Given the description of an element on the screen output the (x, y) to click on. 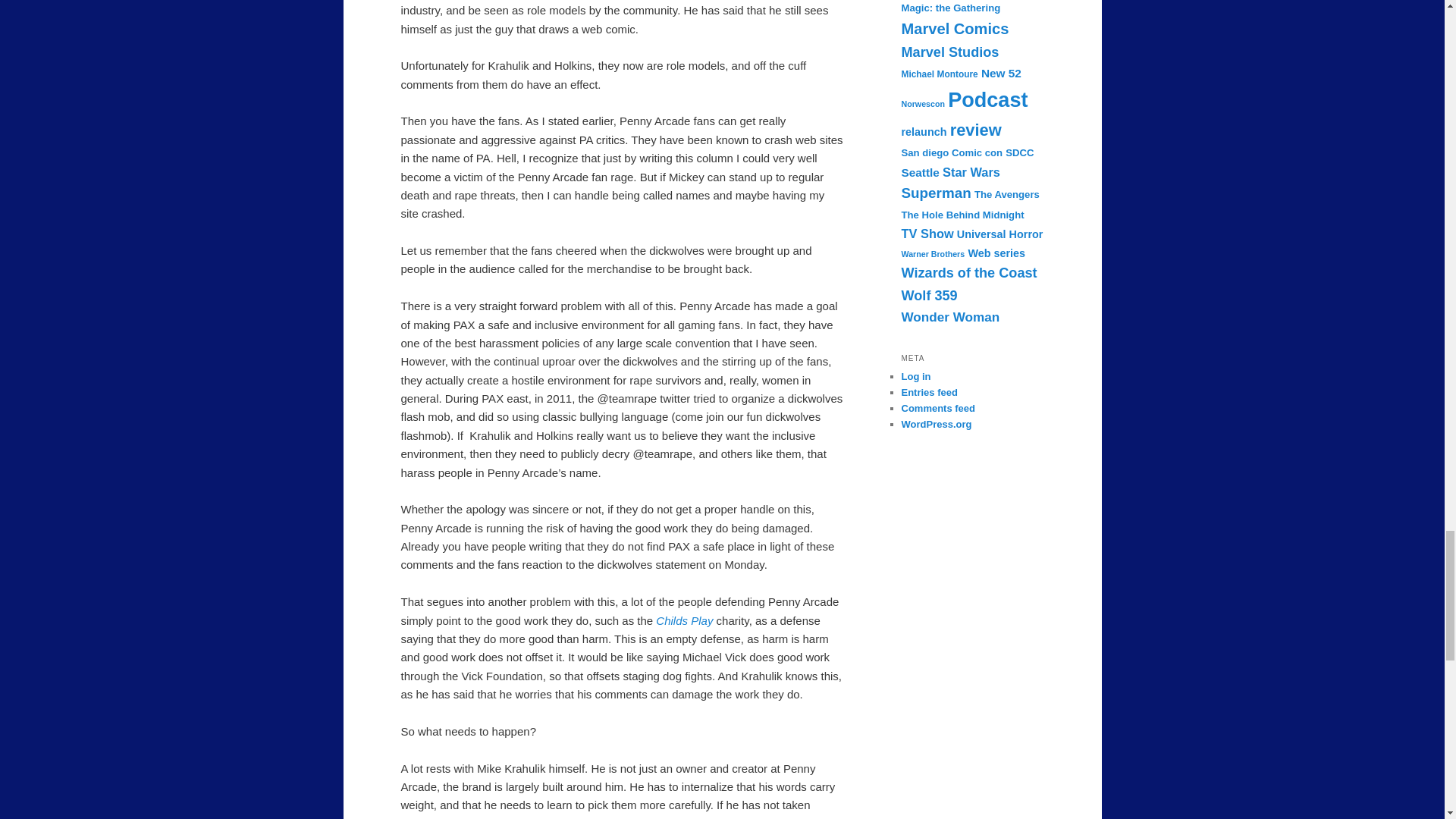
Childs Play (686, 620)
